Given the description of an element on the screen output the (x, y) to click on. 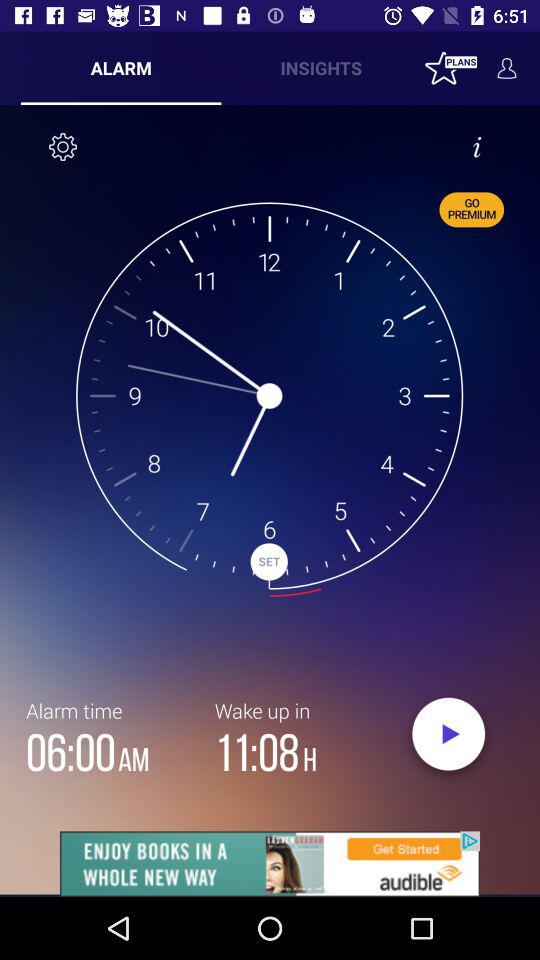
details about advertisement (270, 864)
